Given the description of an element on the screen output the (x, y) to click on. 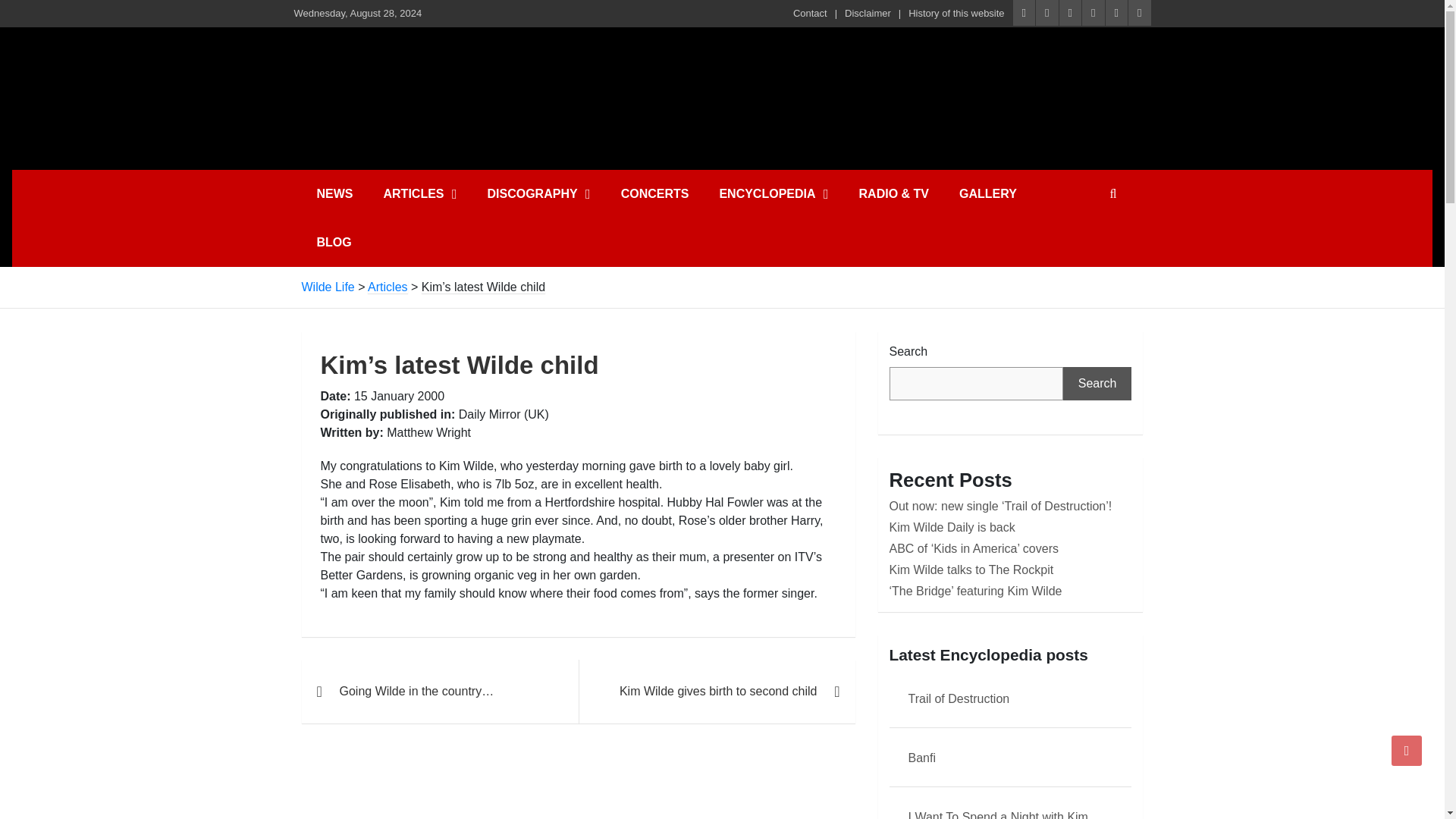
Contact (810, 13)
ENCYCLOPEDIA (773, 193)
Disclaimer (867, 13)
Wilde Life (442, 62)
Go to Wilde Life. (328, 286)
History of this website (956, 13)
DISCOGRAPHY (538, 193)
Go to Articles. (387, 286)
Go to Top (1406, 750)
CONCERTS (654, 193)
